Given the description of an element on the screen output the (x, y) to click on. 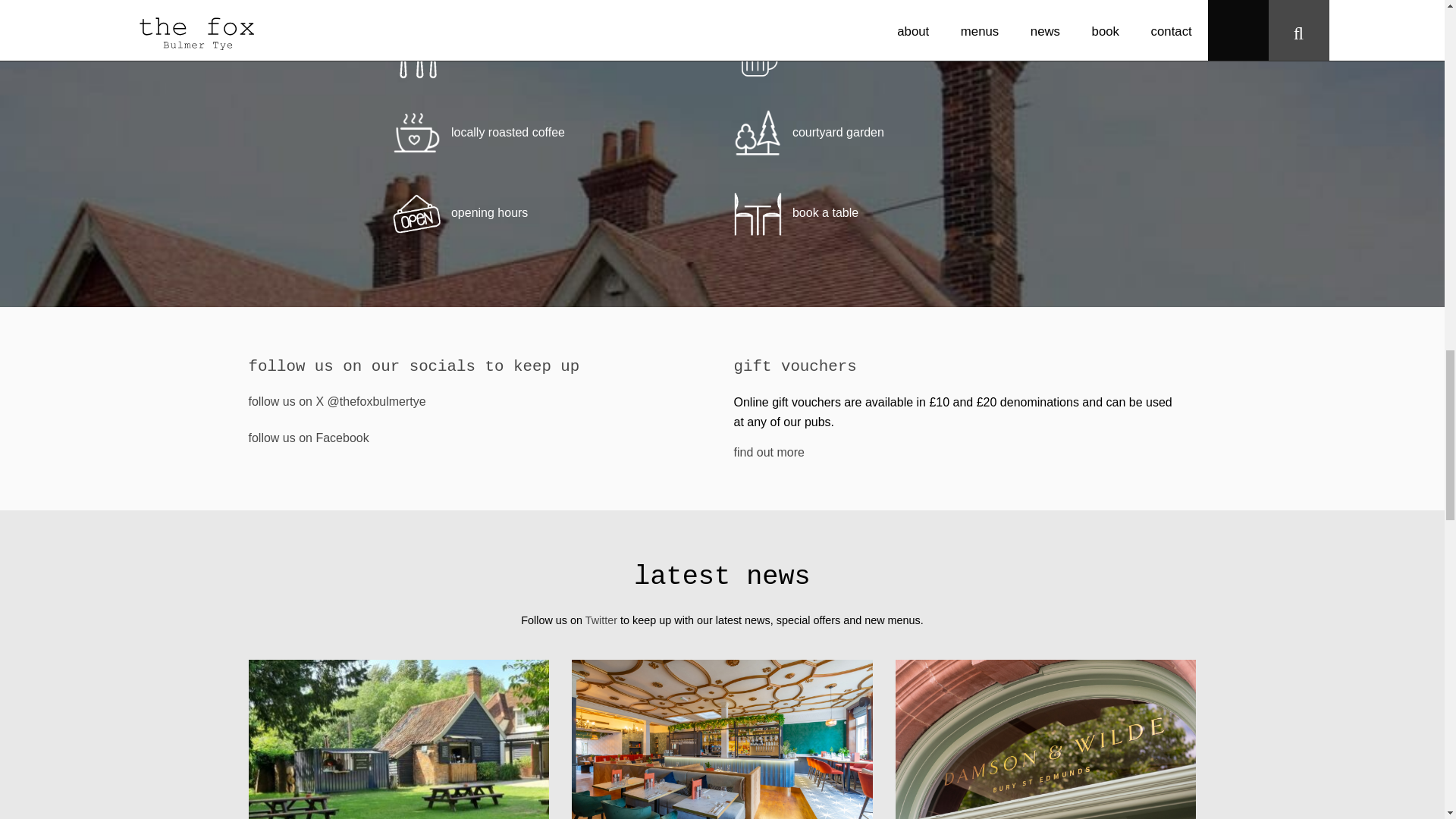
All aboard for summer (399, 744)
Fresh, regional, seasonal food (501, 51)
Courtyard garden (808, 132)
Locally roasted coffee (478, 132)
Beer from our craft brewery (836, 51)
Book a table (796, 212)
Opening hours (460, 212)
